Given the description of an element on the screen output the (x, y) to click on. 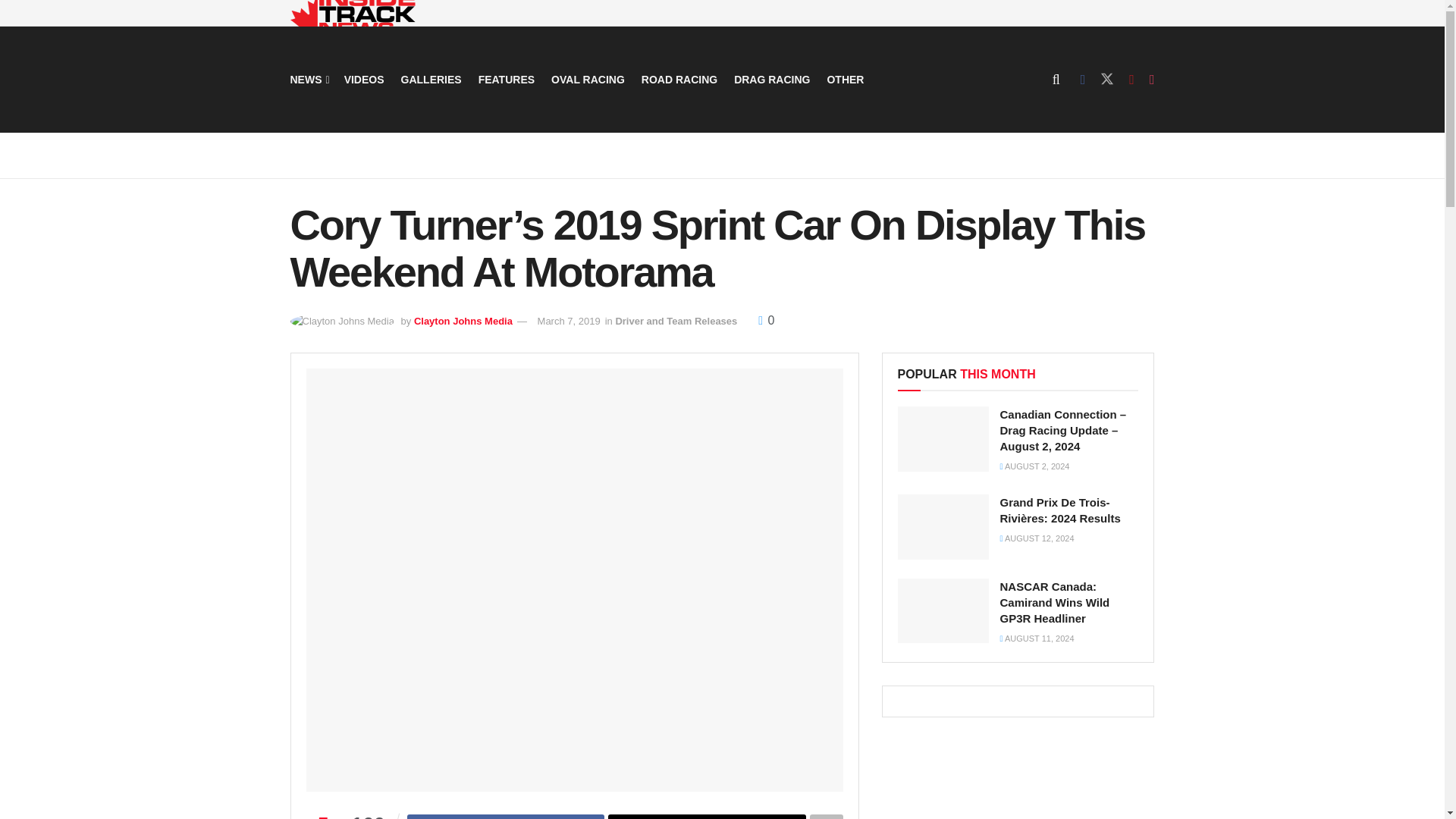
OTHER (845, 79)
FEATURES (506, 79)
GALLERIES (431, 79)
DRAG RACING (771, 79)
ROAD RACING (679, 79)
NEWS (307, 79)
VIDEOS (363, 79)
OVAL RACING (587, 79)
